Given the description of an element on the screen output the (x, y) to click on. 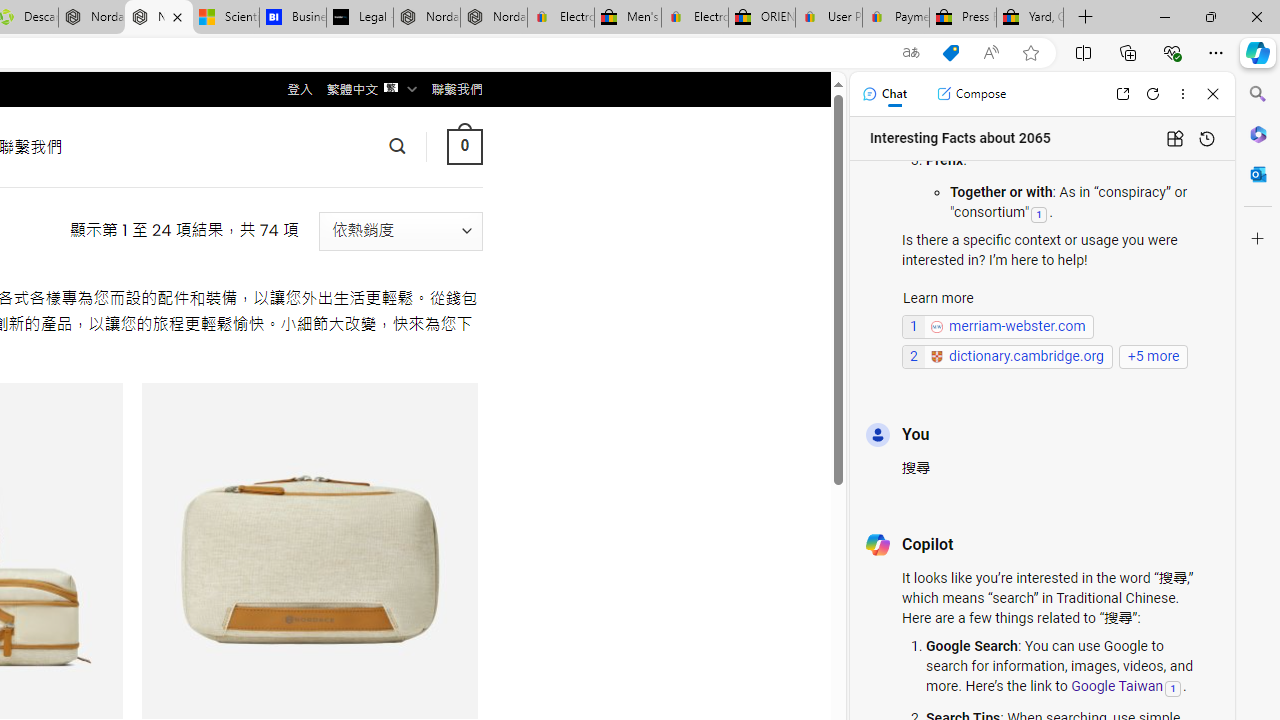
Payments Terms of Use | eBay.com (895, 17)
Yard, Garden & Outdoor Living (1030, 17)
